Given the description of an element on the screen output the (x, y) to click on. 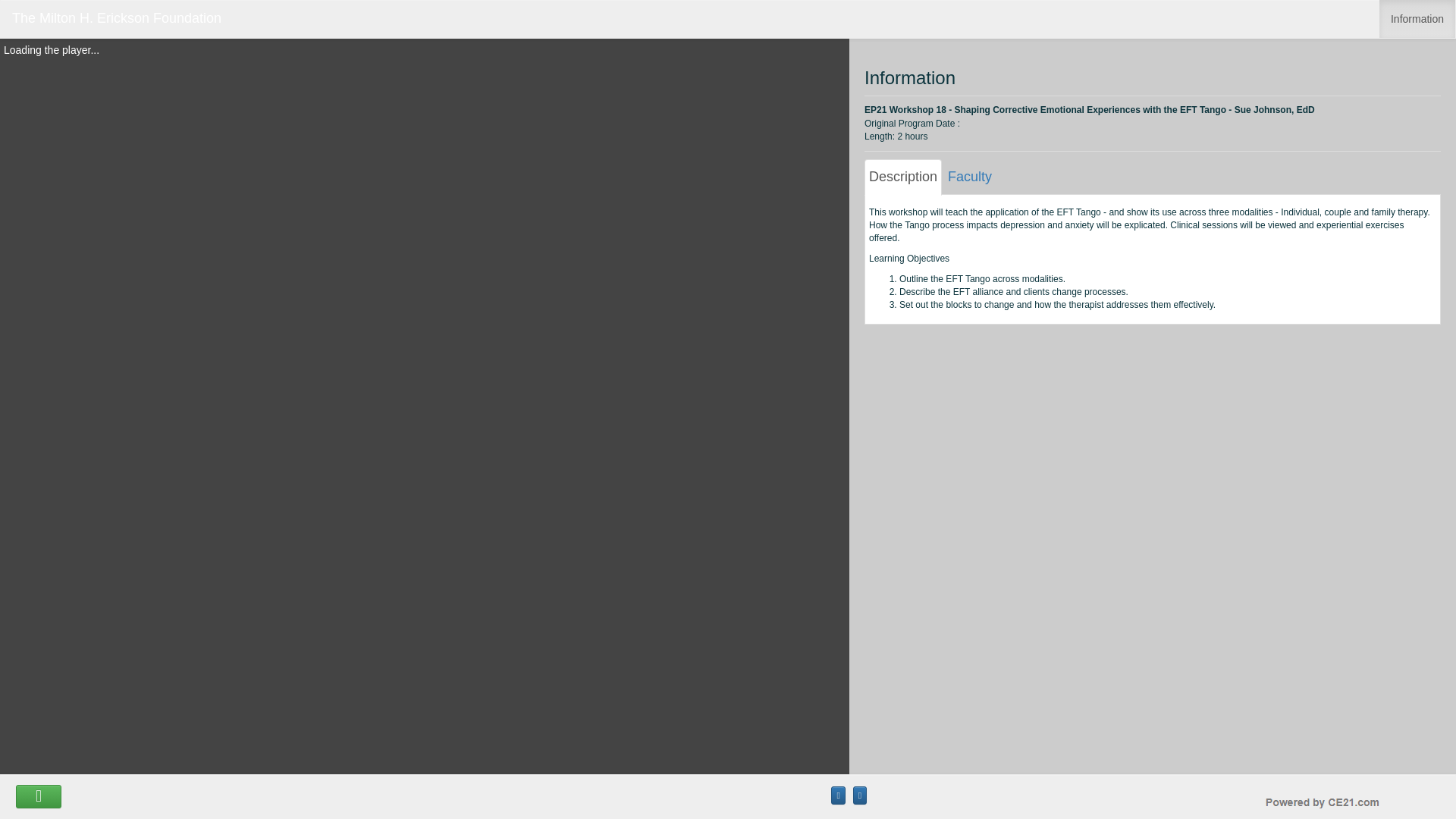
Description (903, 176)
Faculty (969, 176)
Information (1416, 18)
